Given the description of an element on the screen output the (x, y) to click on. 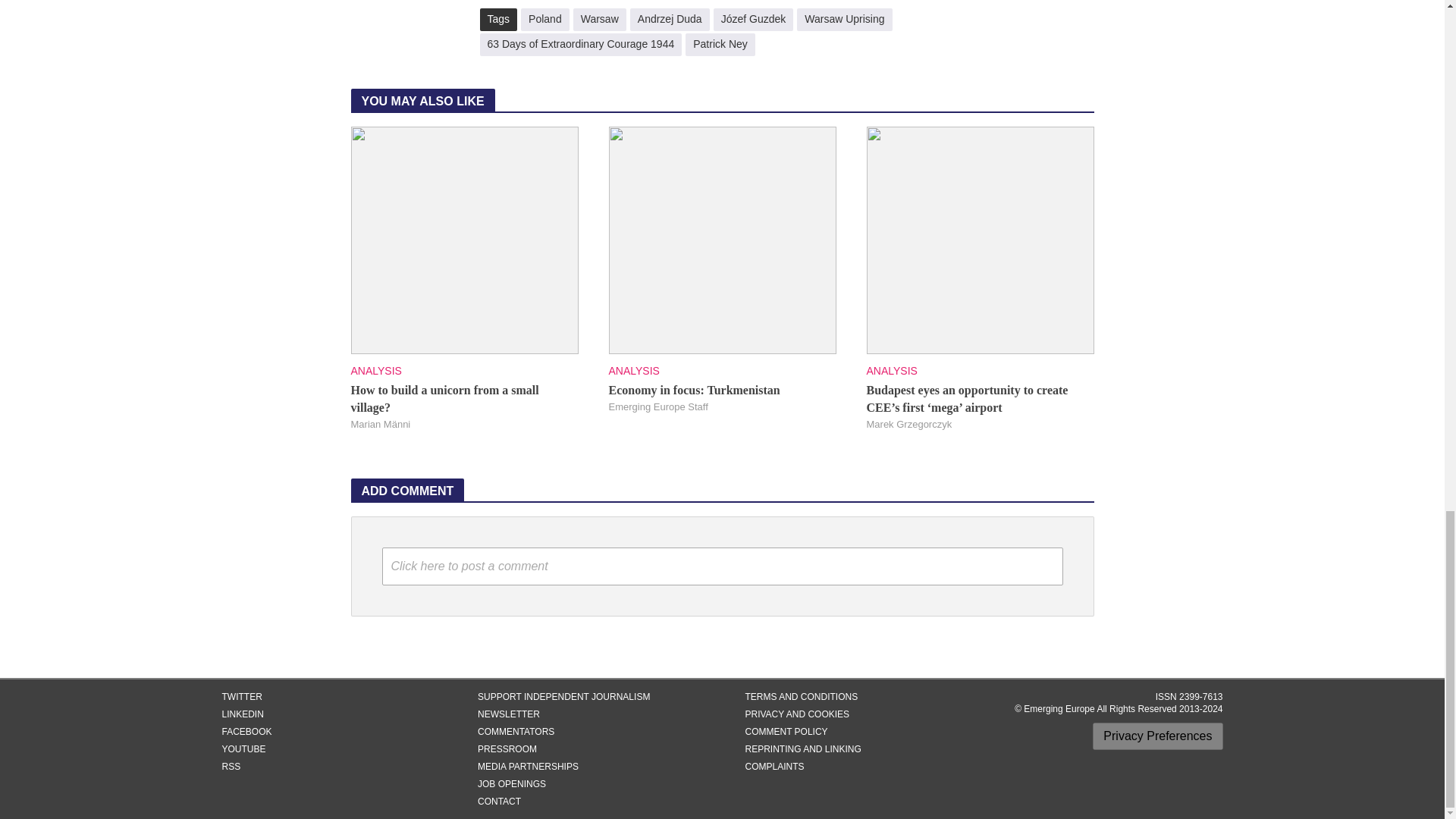
Economy in focus: Turkmenistan (721, 238)
How to build a unicorn from a small village? (464, 238)
